Given the description of an element on the screen output the (x, y) to click on. 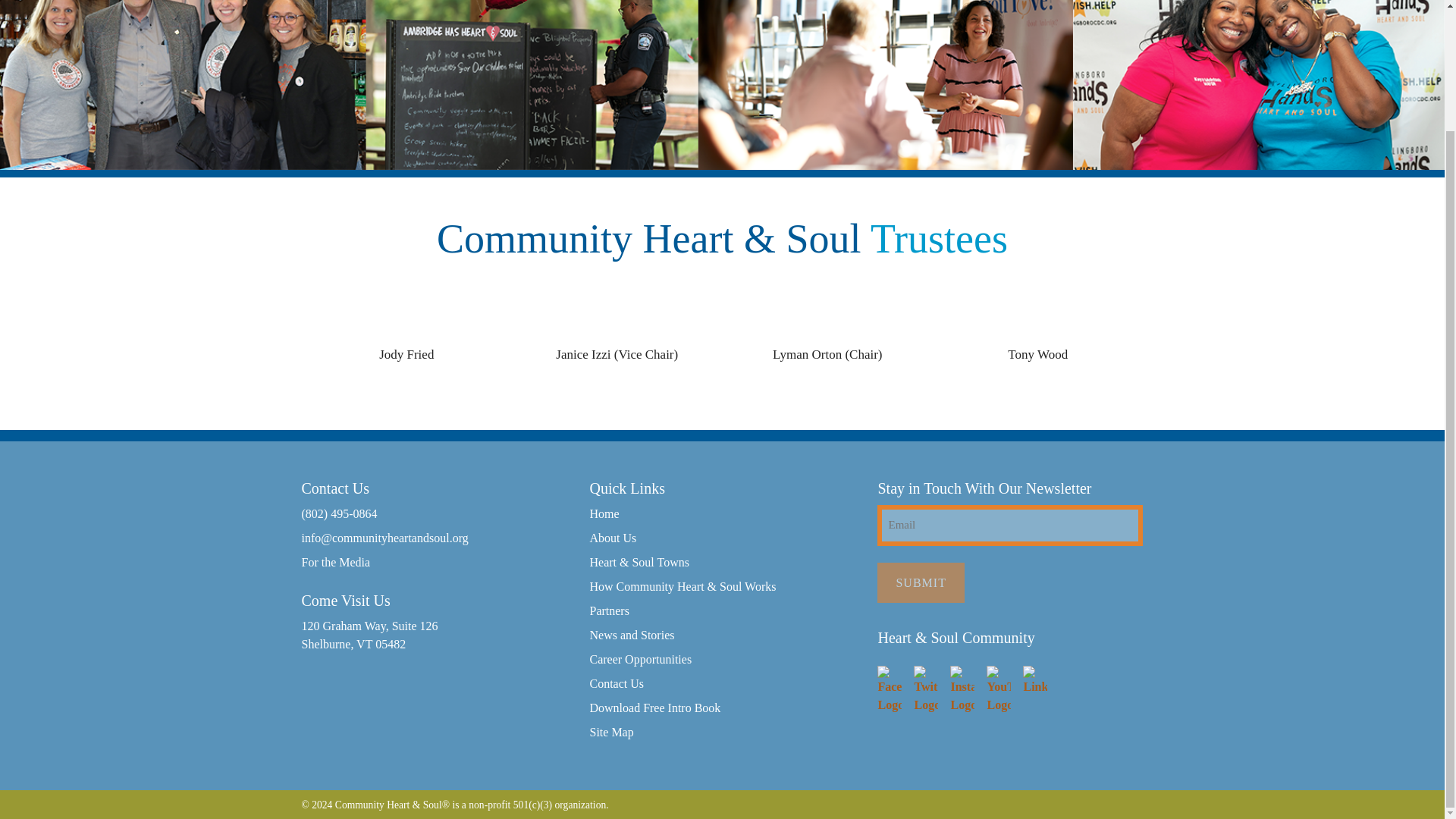
Home (603, 513)
Jody Fried (406, 353)
About Us (612, 537)
Submit (920, 581)
Career Opportunities (640, 659)
Contact Us (616, 683)
Partners (608, 610)
Download Free Intro Book (654, 707)
News and Stories (631, 634)
For the Media (434, 561)
